Given the description of an element on the screen output the (x, y) to click on. 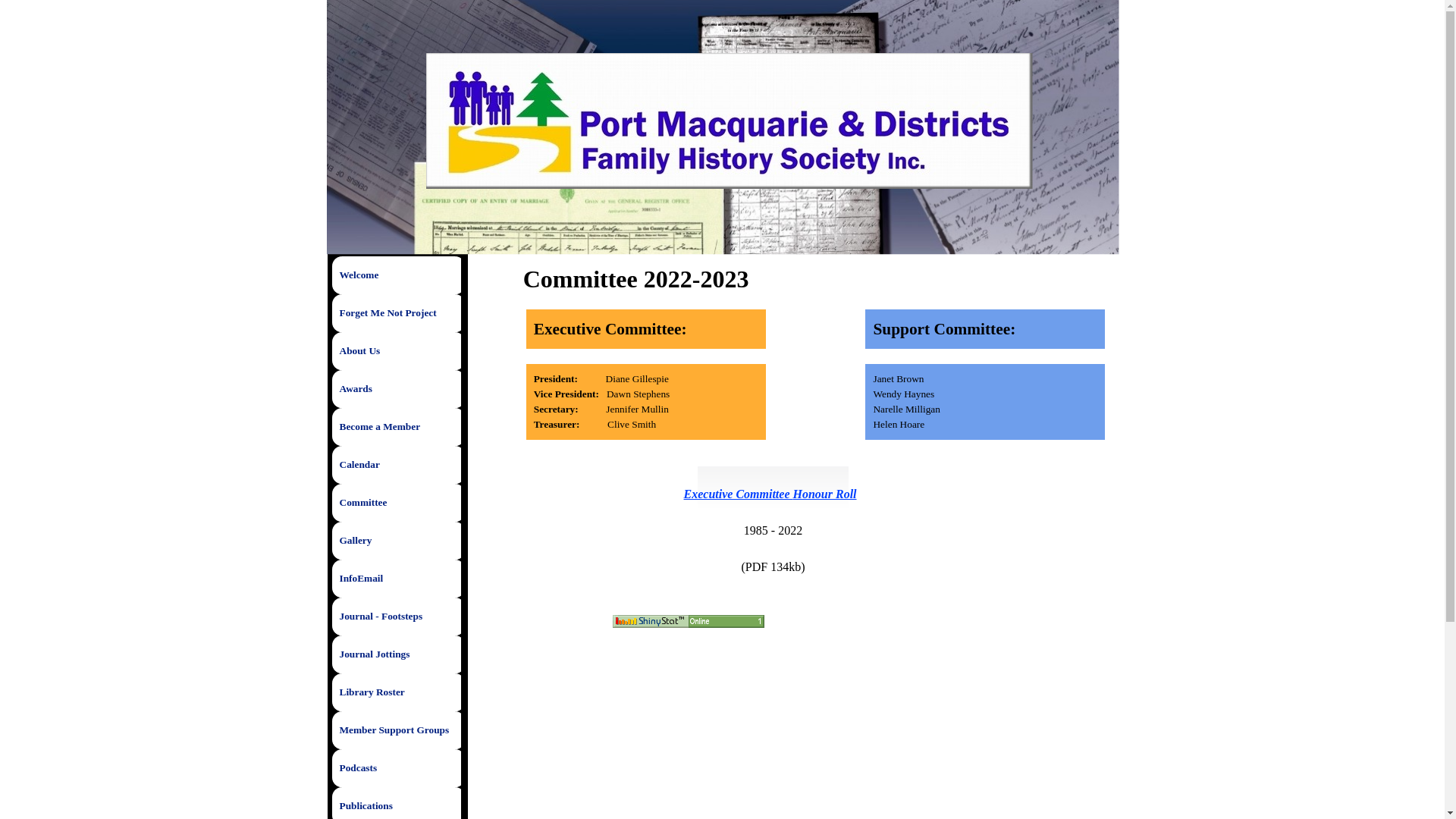
Welcome Element type: text (396, 275)
Forget Me Not Project Element type: text (396, 313)
Calendar Element type: text (396, 464)
Awards Element type: text (396, 388)
Podcasts Element type: text (396, 768)
About Us Element type: text (396, 351)
Journal Jottings Element type: text (396, 654)
Become a Member Element type: text (396, 426)
Journal - Footsteps Element type: text (396, 616)
Executive Committee Element type: text (738, 493)
Library Roster Element type: text (396, 692)
Gallery Element type: text (396, 540)
Committee Element type: text (396, 502)
InfoEmail Element type: text (396, 578)
Honour Roll Element type: text (824, 493)
Member Support Groups Element type: text (396, 730)
